Given the description of an element on the screen output the (x, y) to click on. 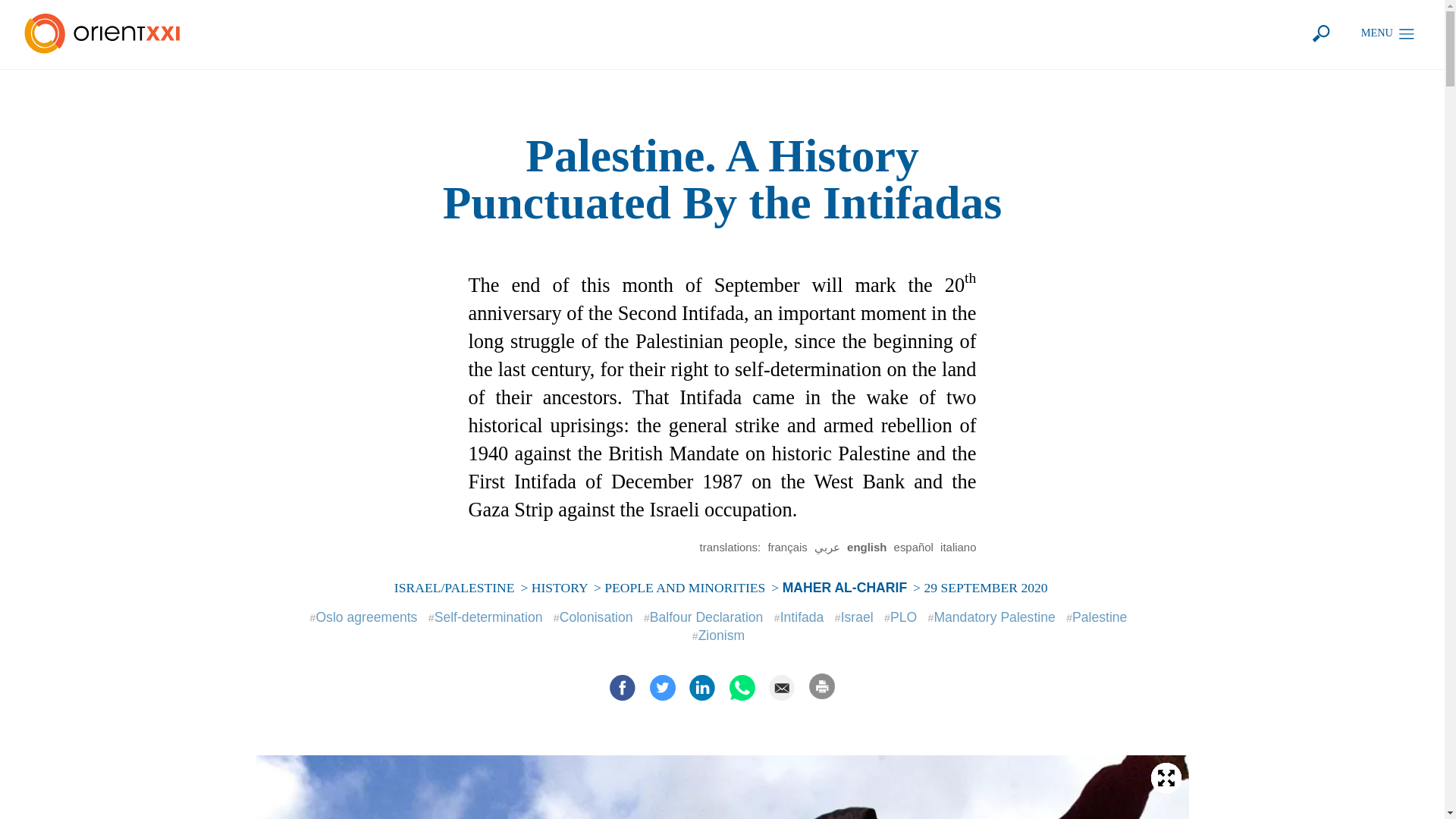
Imprimer (821, 686)
Facebook (622, 687)
Whatsapp (742, 687)
LinkedIn (701, 687)
Mail (781, 687)
Twitter (662, 687)
